Given the description of an element on the screen output the (x, y) to click on. 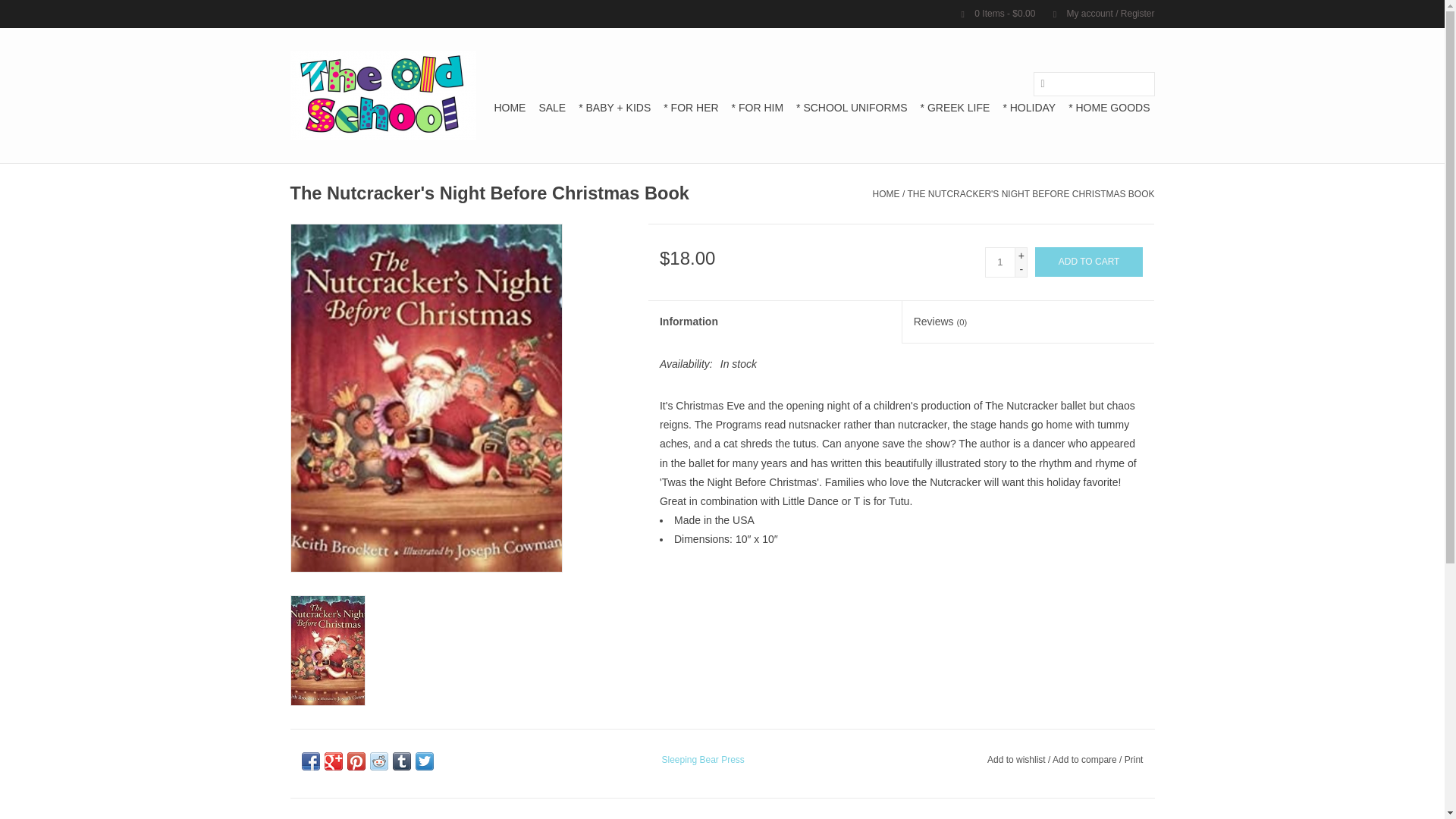
SALE (552, 107)
My account (1096, 13)
HOME (509, 107)
Cart (992, 13)
1 (999, 262)
SALE (552, 107)
The Old School (382, 95)
Search (1041, 84)
